Given the description of an element on the screen output the (x, y) to click on. 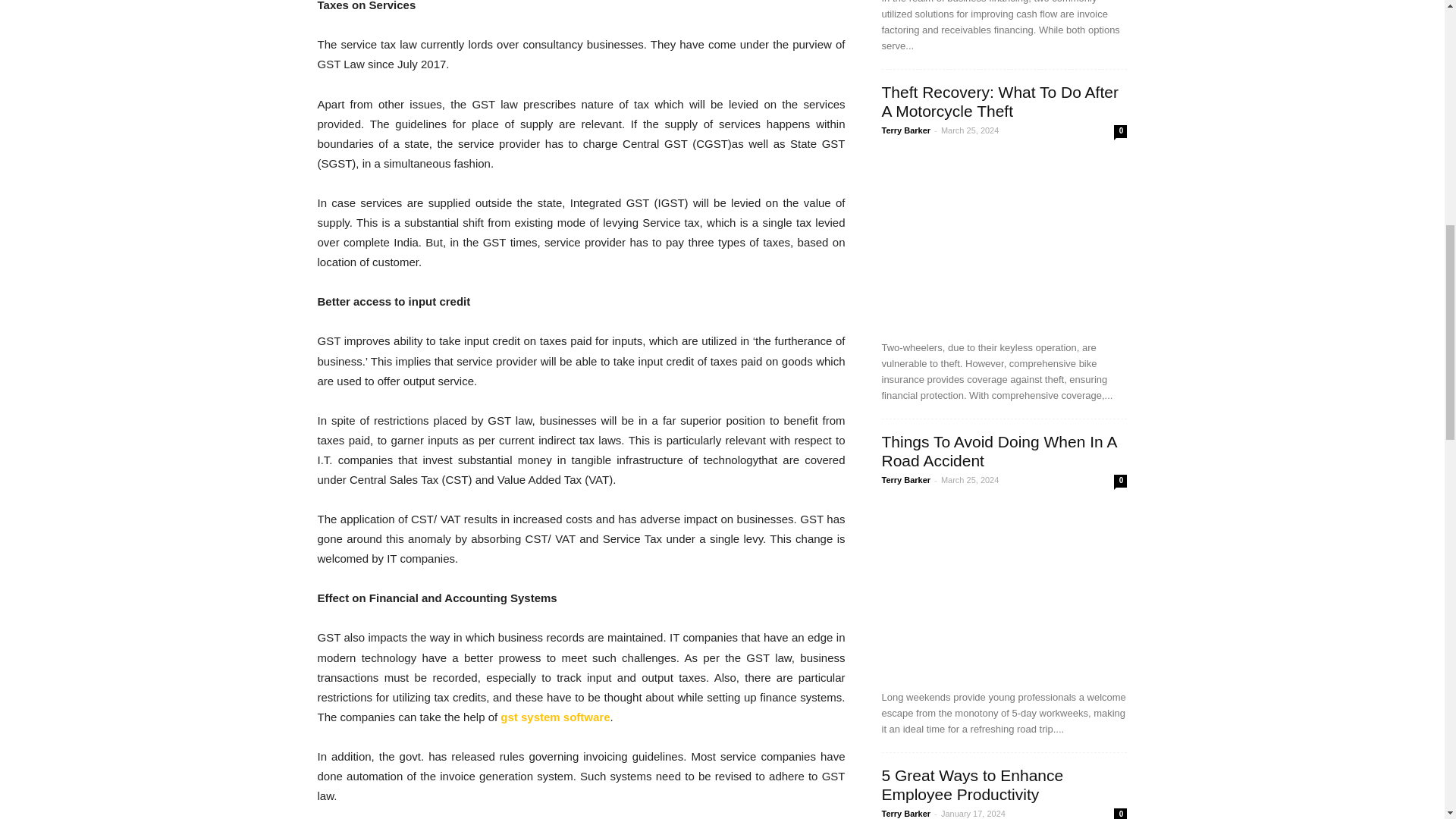
gst system software (555, 716)
